Given the description of an element on the screen output the (x, y) to click on. 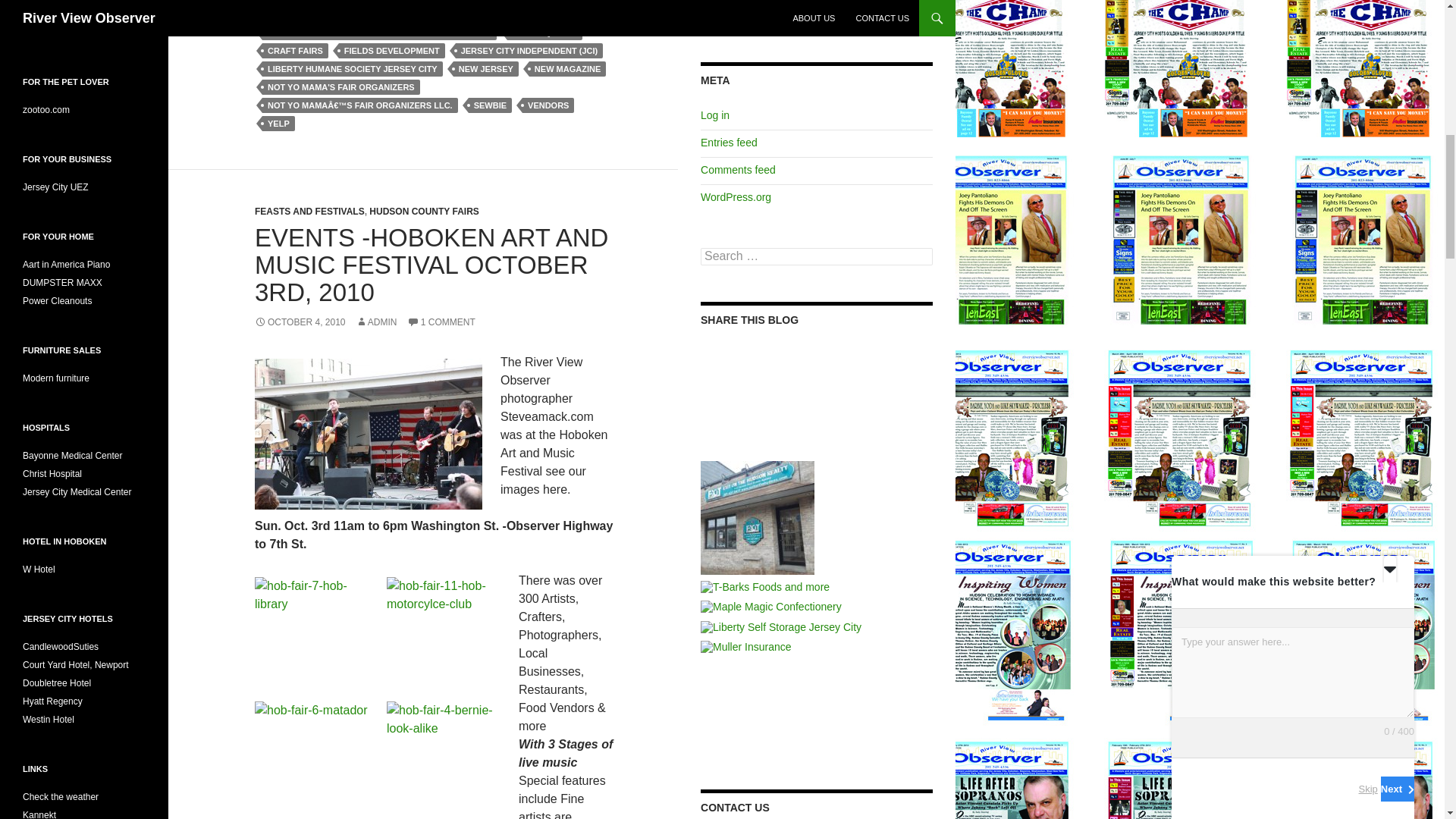
FEASTS AND FESTIVALS (309, 211)
OCTOBER 4, 2010 (300, 321)
hob-fair-4-bernie-look-alike (443, 757)
HUDSON COUNTY FAIRS (424, 211)
1 COMMENT (441, 321)
hob-fair-7-hob-library (311, 634)
hob-fair-11-hob-motorcylce-club (443, 634)
EVENTS -HOBOKEN ART AND MUSIC FESTIVAL OCTOBER 3RD, 2010 (431, 264)
ADMIN (376, 321)
NEW MAGAZINE (567, 68)
